Given the description of an element on the screen output the (x, y) to click on. 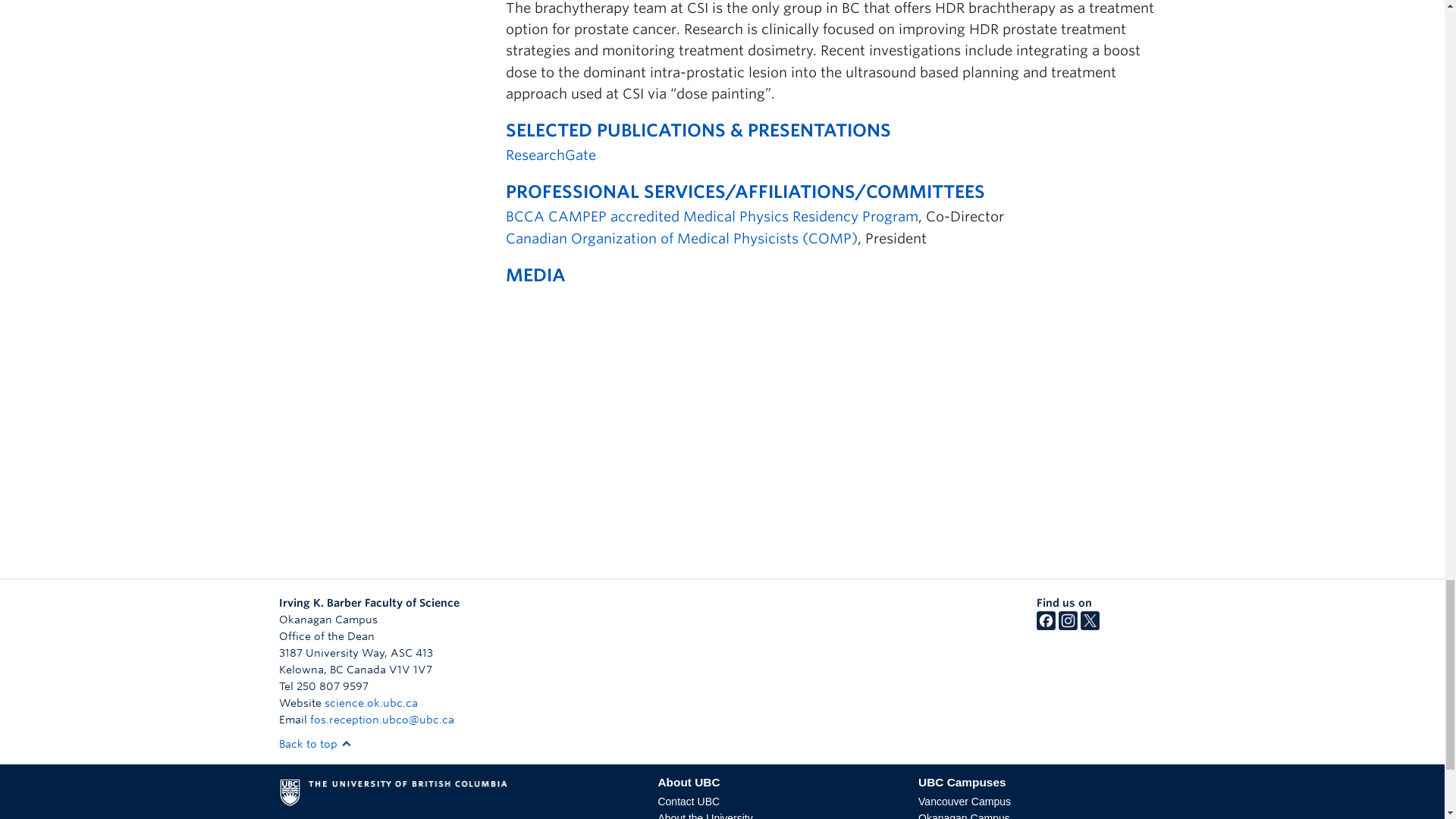
Twitter icon (1089, 625)
Facebook icon (1045, 625)
Instagram icon (1067, 625)
Back to top (315, 743)
COMP (681, 238)
